Given the description of an element on the screen output the (x, y) to click on. 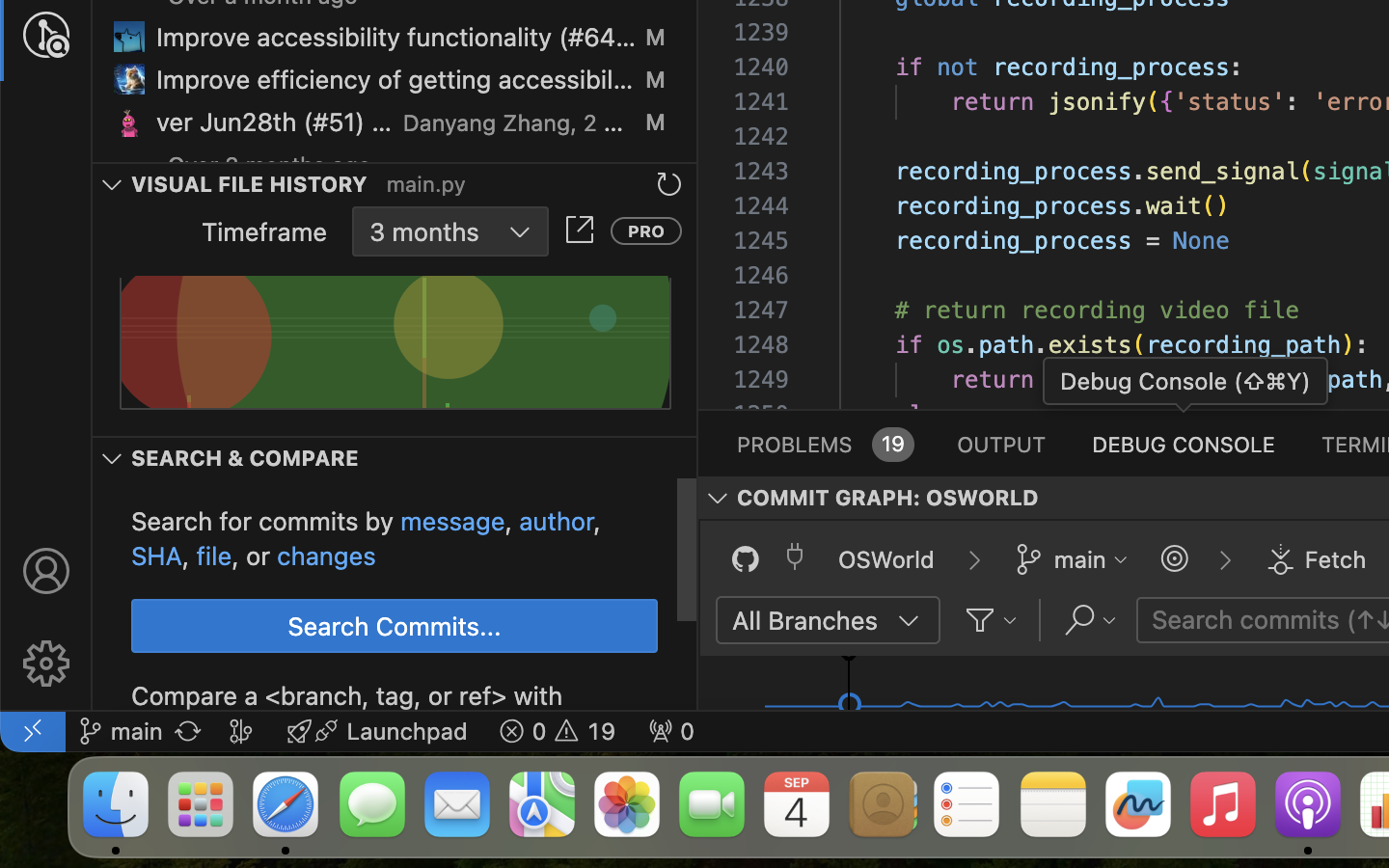
main.py Element type: AXStaticText (425, 183)
 Element type: AXStaticText (1224, 559)
Improve efficiency of getting accessibility tree (#57) … Element type: AXStaticText (395, 79)
0 PROBLEMS 19 Element type: AXRadioButton (824, 443)
Pro Element type: AXGroup (645, 230)
